Given the description of an element on the screen output the (x, y) to click on. 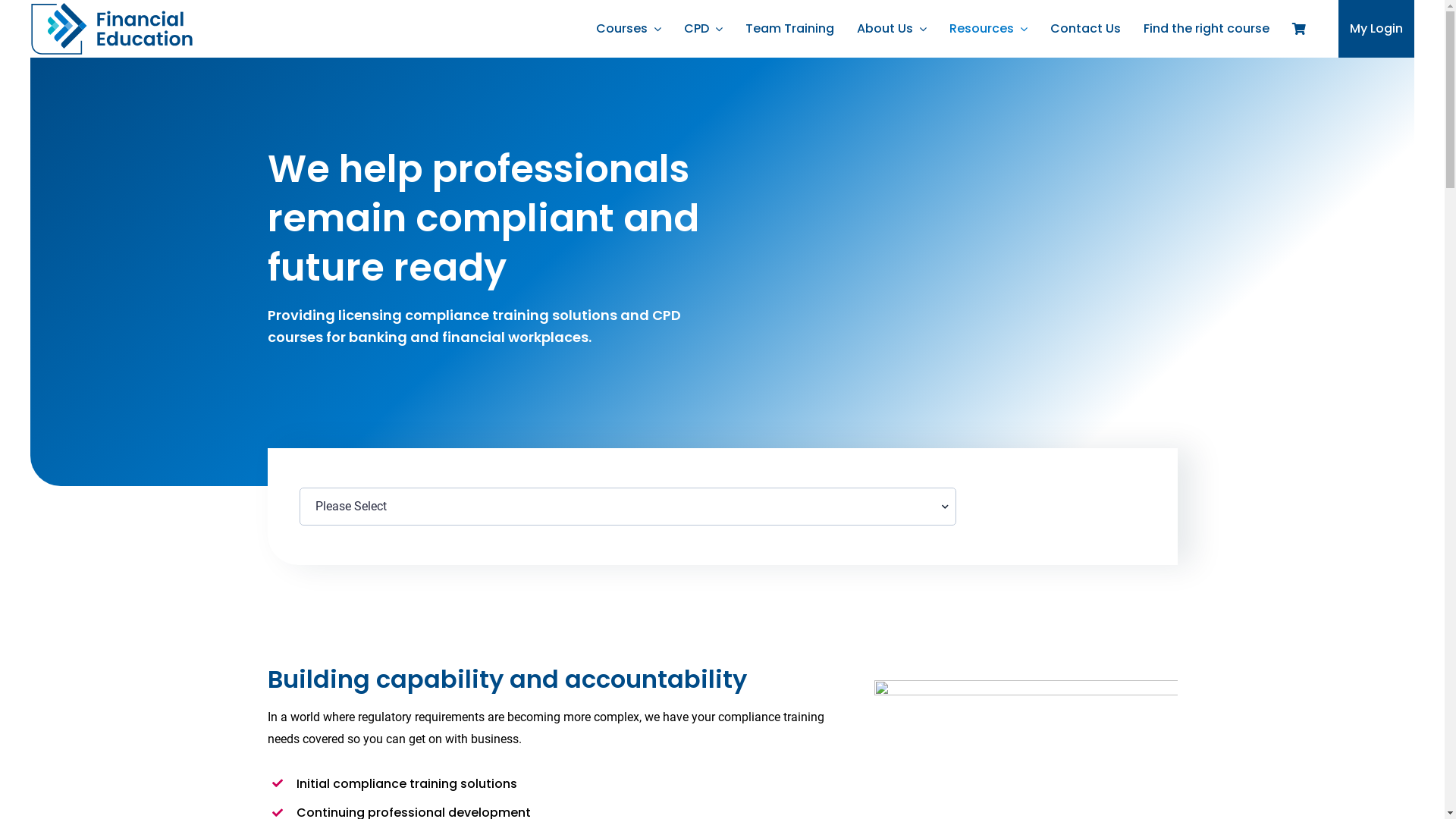
Contact Us Element type: text (1085, 28)
About Us Element type: text (891, 28)
CPD Element type: text (703, 28)
Courses Element type: text (628, 28)
Find My Course Element type: text (1057, 505)
Find the right course Element type: text (1206, 28)
Team Training Element type: text (789, 28)
My Login Element type: text (1376, 28)
Resources Element type: text (988, 28)
